Given the description of an element on the screen output the (x, y) to click on. 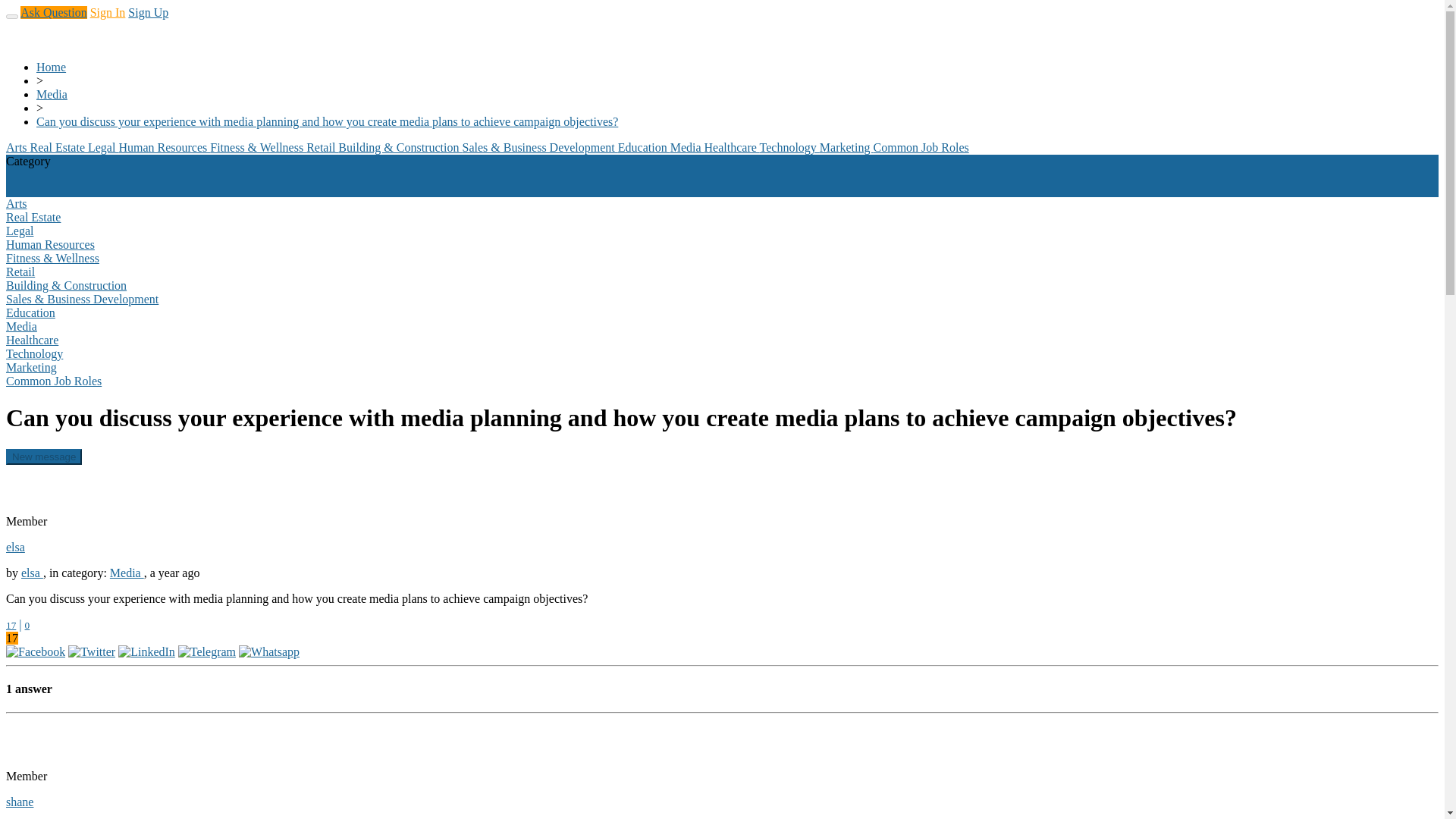
Healthcare (732, 146)
Retail (321, 146)
Twitter (91, 651)
Technology (789, 146)
Education (643, 146)
Legal (102, 146)
Arts (17, 146)
Telegram (206, 651)
LinkedIn (145, 651)
